Given the description of an element on the screen output the (x, y) to click on. 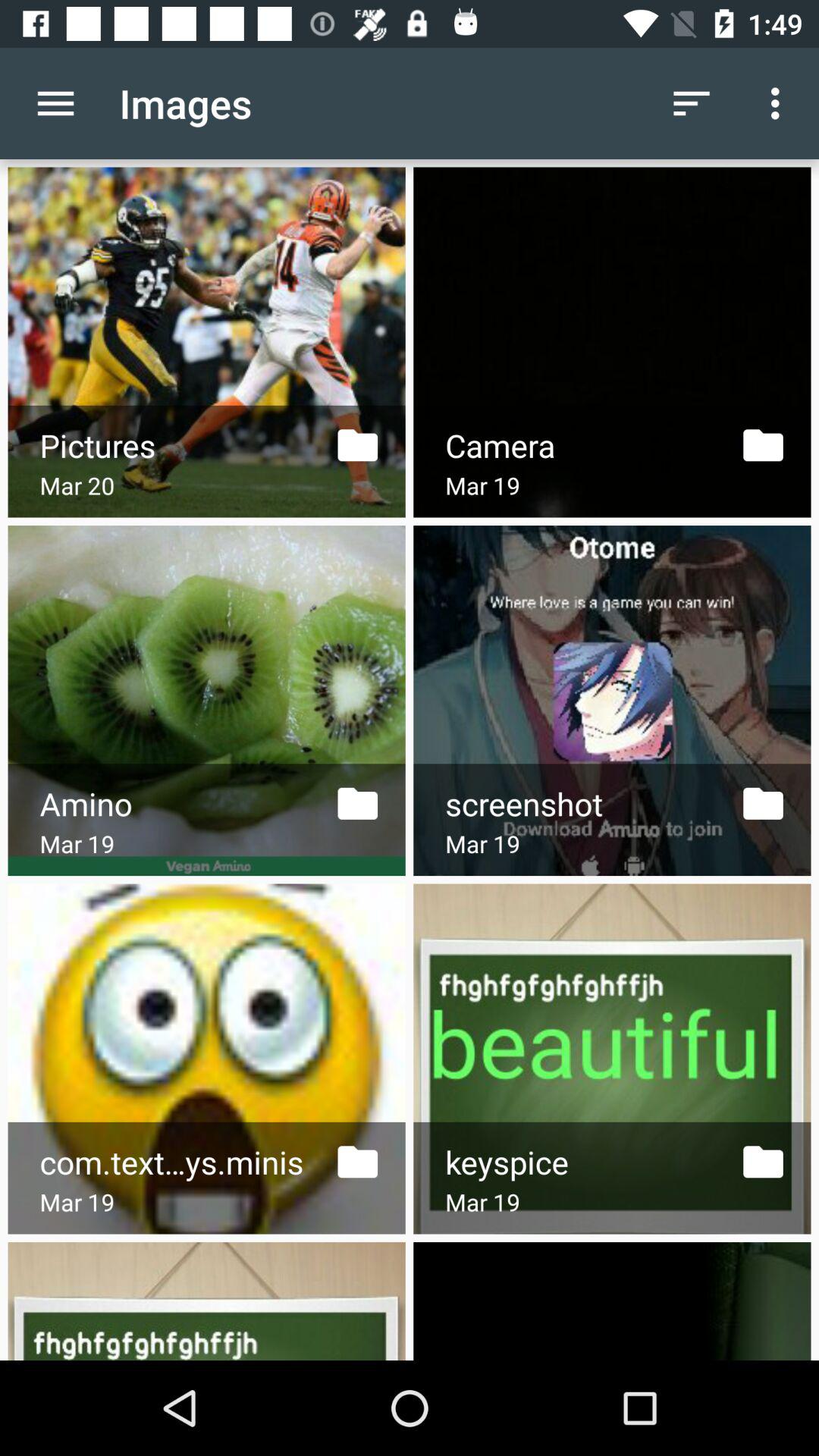
launch app to the right of images app (691, 103)
